Given the description of an element on the screen output the (x, y) to click on. 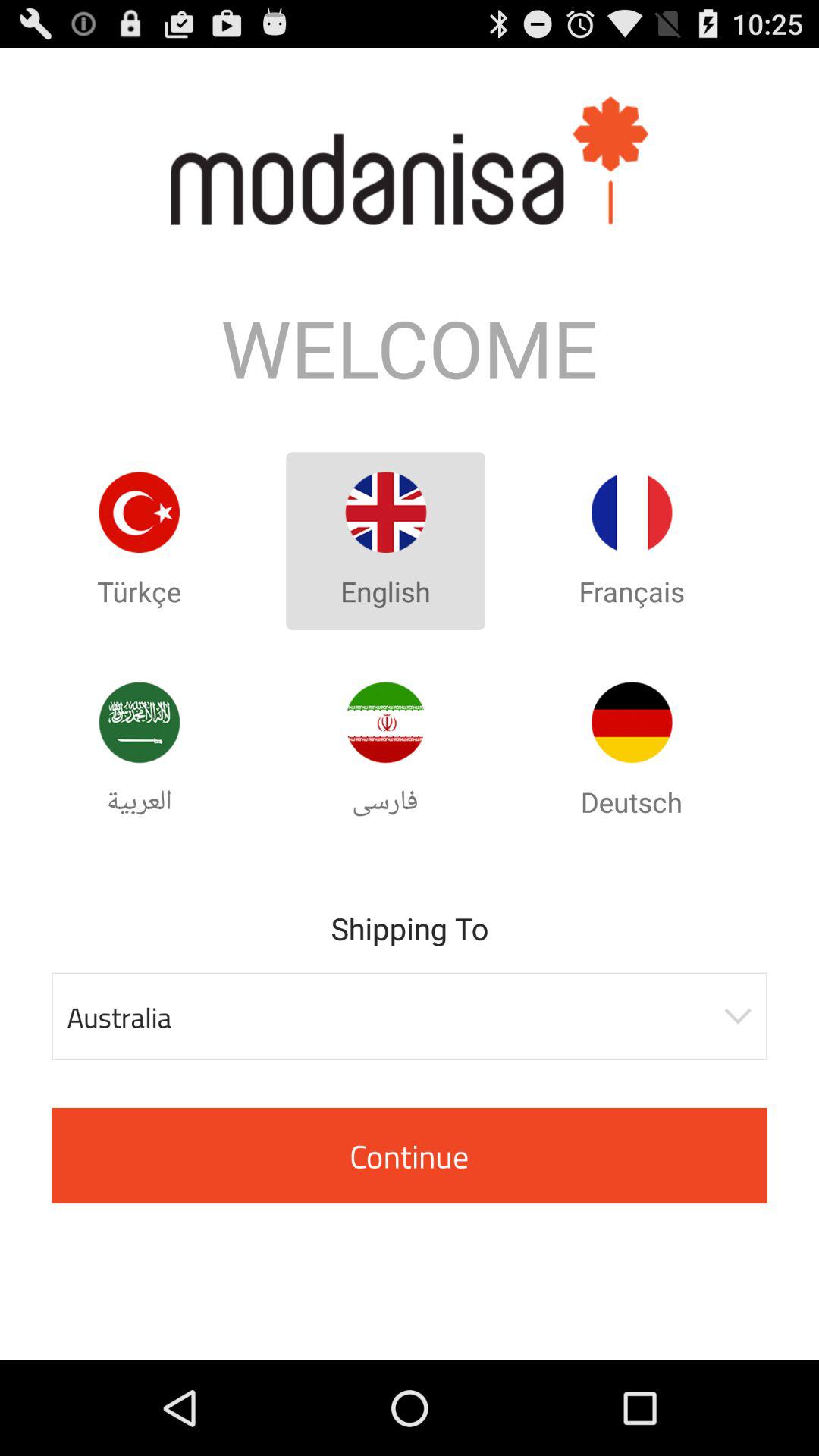
change the language (631, 722)
